Given the description of an element on the screen output the (x, y) to click on. 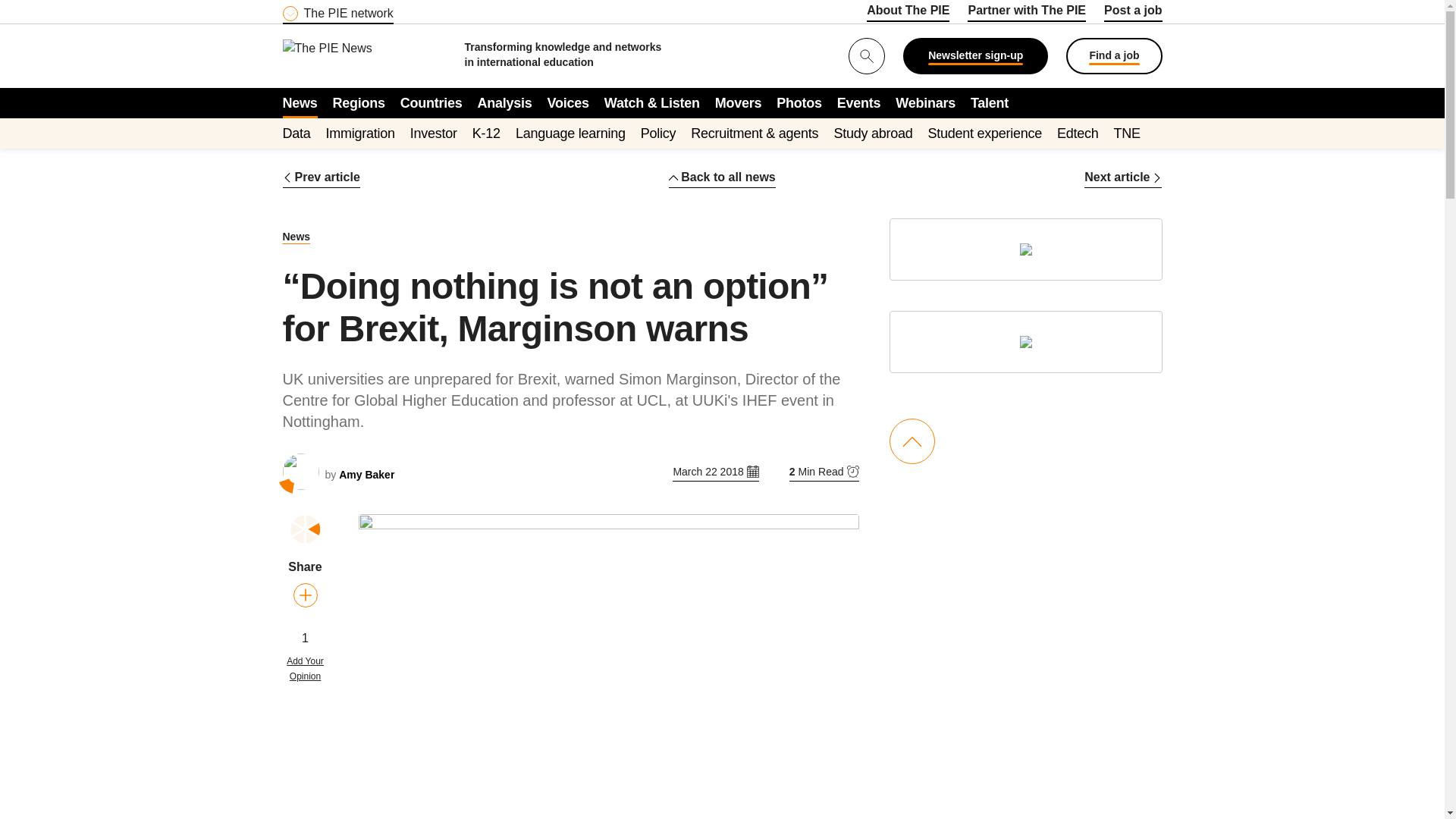
Regions (359, 102)
About The PIE (907, 13)
Content (373, 9)
News (299, 102)
Find a job (1113, 55)
Newsletter sign-up (975, 55)
Partner with The PIE (1027, 13)
Countries (431, 102)
Post a job (1132, 13)
